Given the description of an element on the screen output the (x, y) to click on. 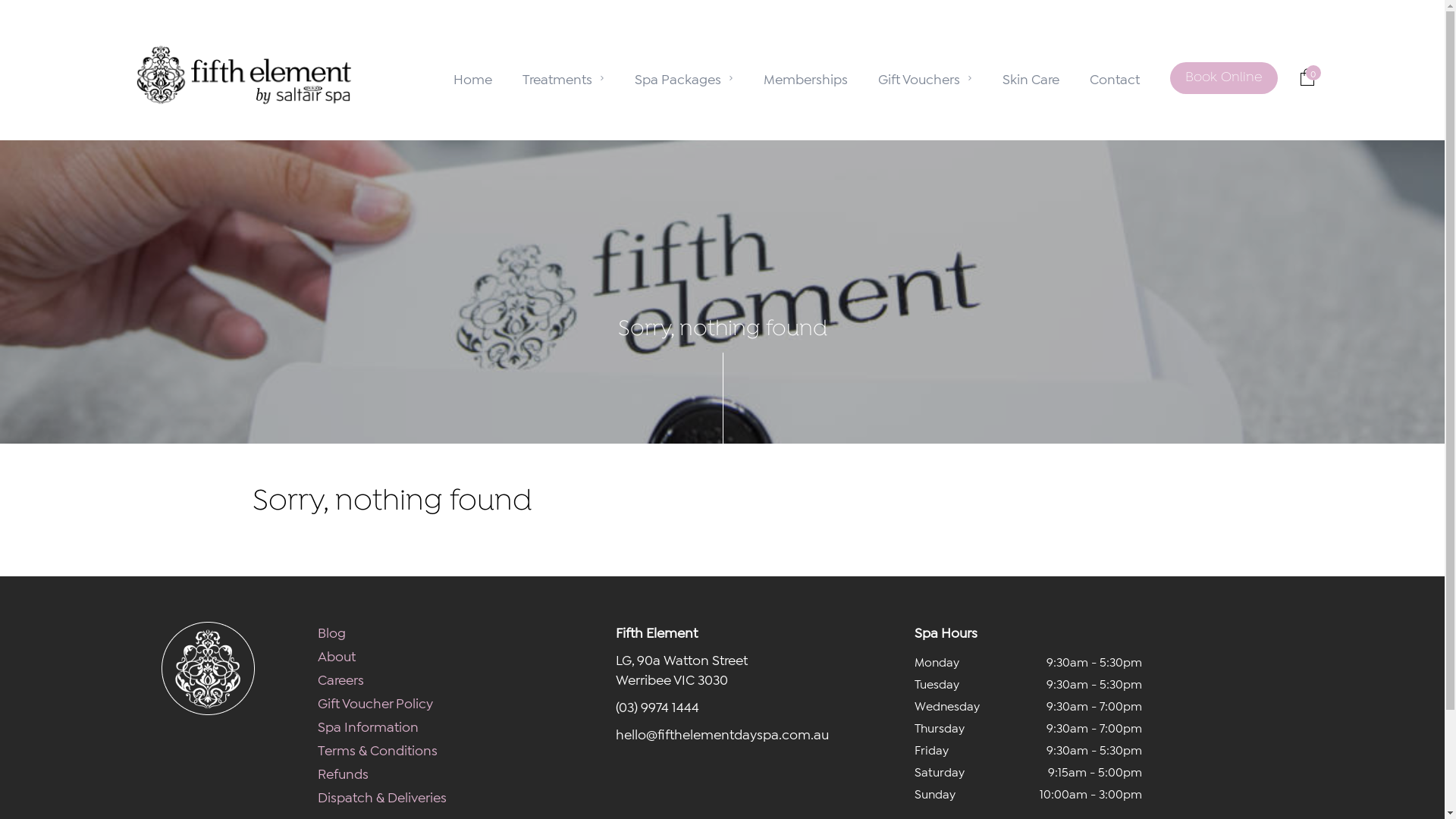
Blog Element type: text (331, 631)
Gift Voucher Policy Element type: text (375, 701)
Careers Element type: text (340, 678)
Terms & Conditions Element type: text (377, 748)
Spa Packages Element type: text (682, 78)
About Element type: text (336, 654)
Memberships Element type: text (804, 78)
Skin Care Element type: text (1030, 78)
Treatments Element type: text (562, 78)
Dispatch & Deliveries Element type: text (381, 795)
Home Element type: text (472, 78)
Gift Vouchers Element type: text (924, 78)
Book Online Element type: text (1223, 78)
Contact Element type: text (1113, 78)
Refunds Element type: text (342, 772)
Spa Information Element type: text (367, 725)
0 Element type: text (1306, 77)
